Given the description of an element on the screen output the (x, y) to click on. 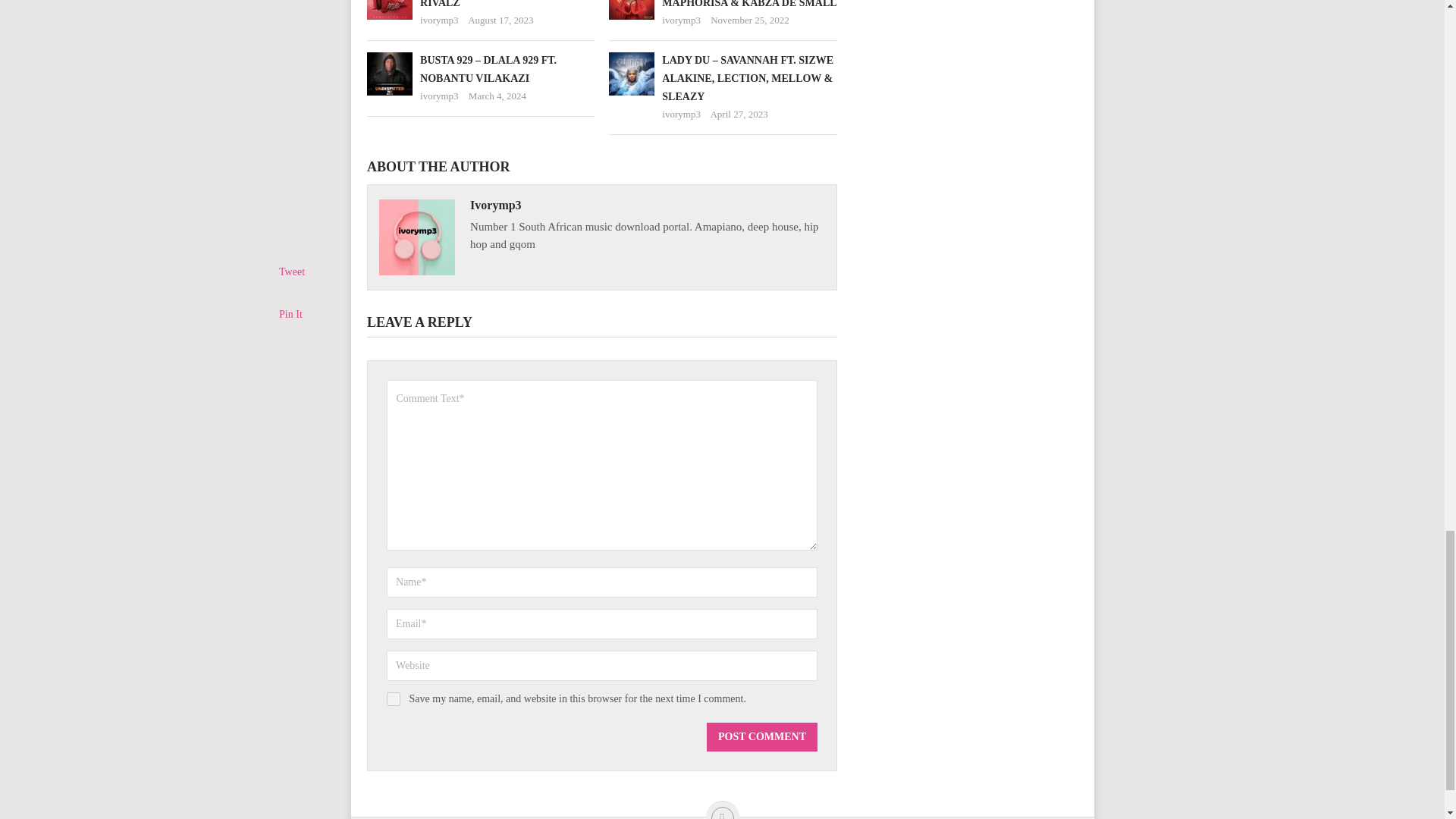
Post Comment (761, 736)
Posts by ivorymp3 (439, 19)
yes (393, 698)
